Given the description of an element on the screen output the (x, y) to click on. 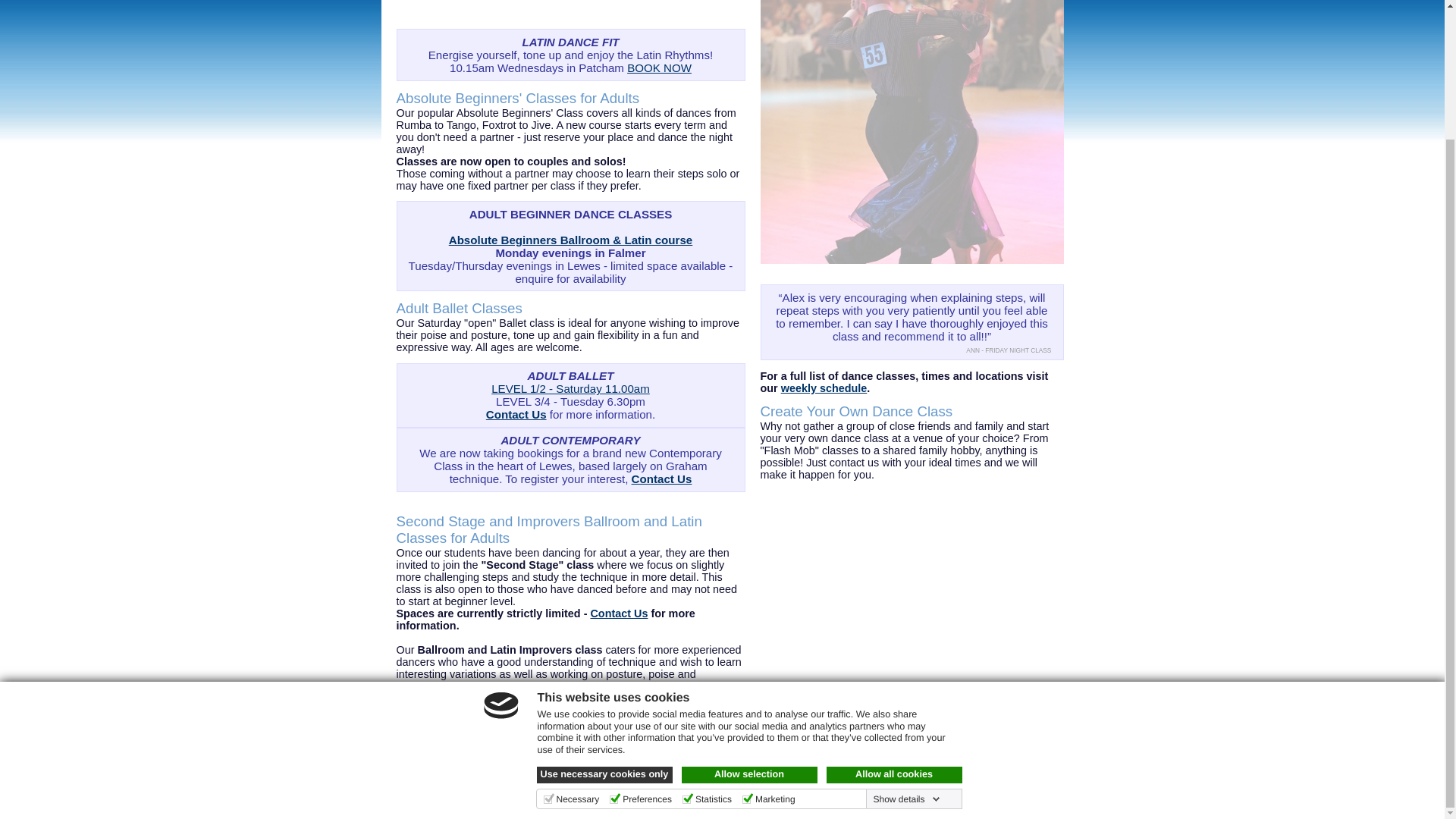
Contact Us (516, 413)
Contact Us (618, 613)
Allow selection (748, 617)
weekly schedule (823, 387)
Show details (905, 642)
Allow all cookies (894, 617)
Use necessary cookies only (604, 617)
